Given the description of an element on the screen output the (x, y) to click on. 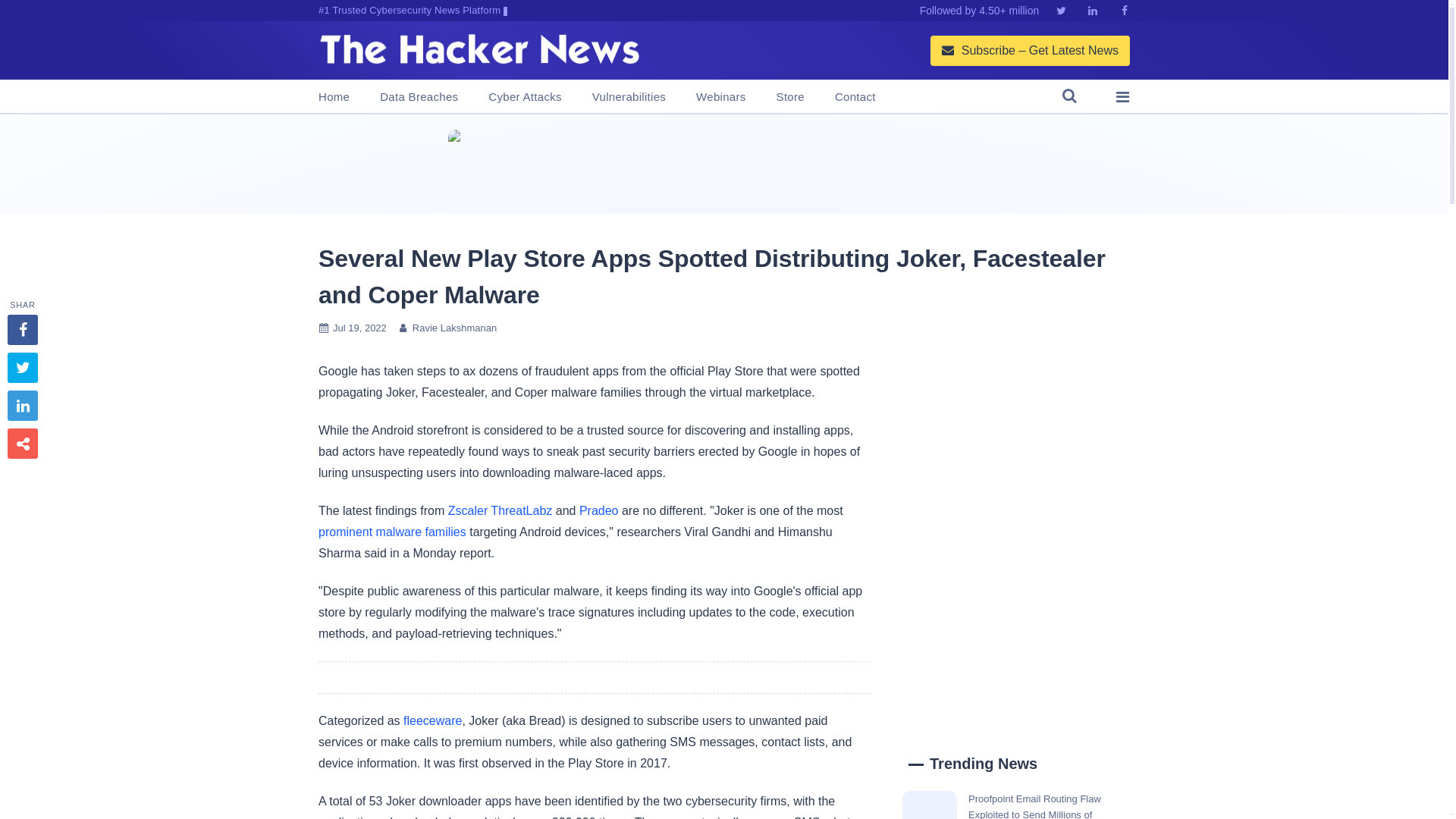
Vulnerabilities (628, 96)
Home (333, 96)
prominent malware families (391, 531)
Webinars (720, 96)
Contact (855, 96)
Zscaler ThreatLabz (500, 510)
Data Breaches (419, 96)
